Given the description of an element on the screen output the (x, y) to click on. 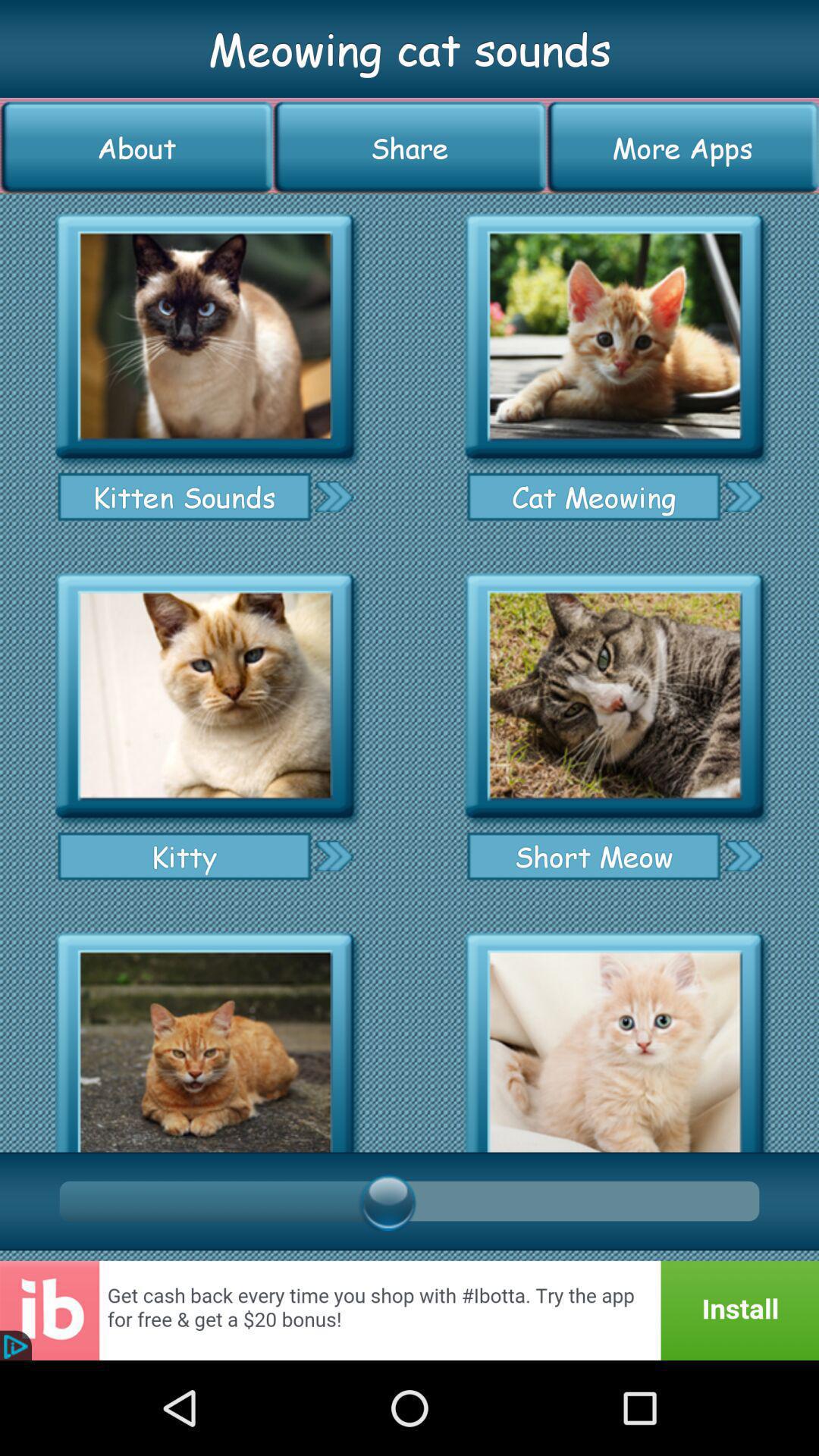
scroll to the kitty icon (184, 855)
